Given the description of an element on the screen output the (x, y) to click on. 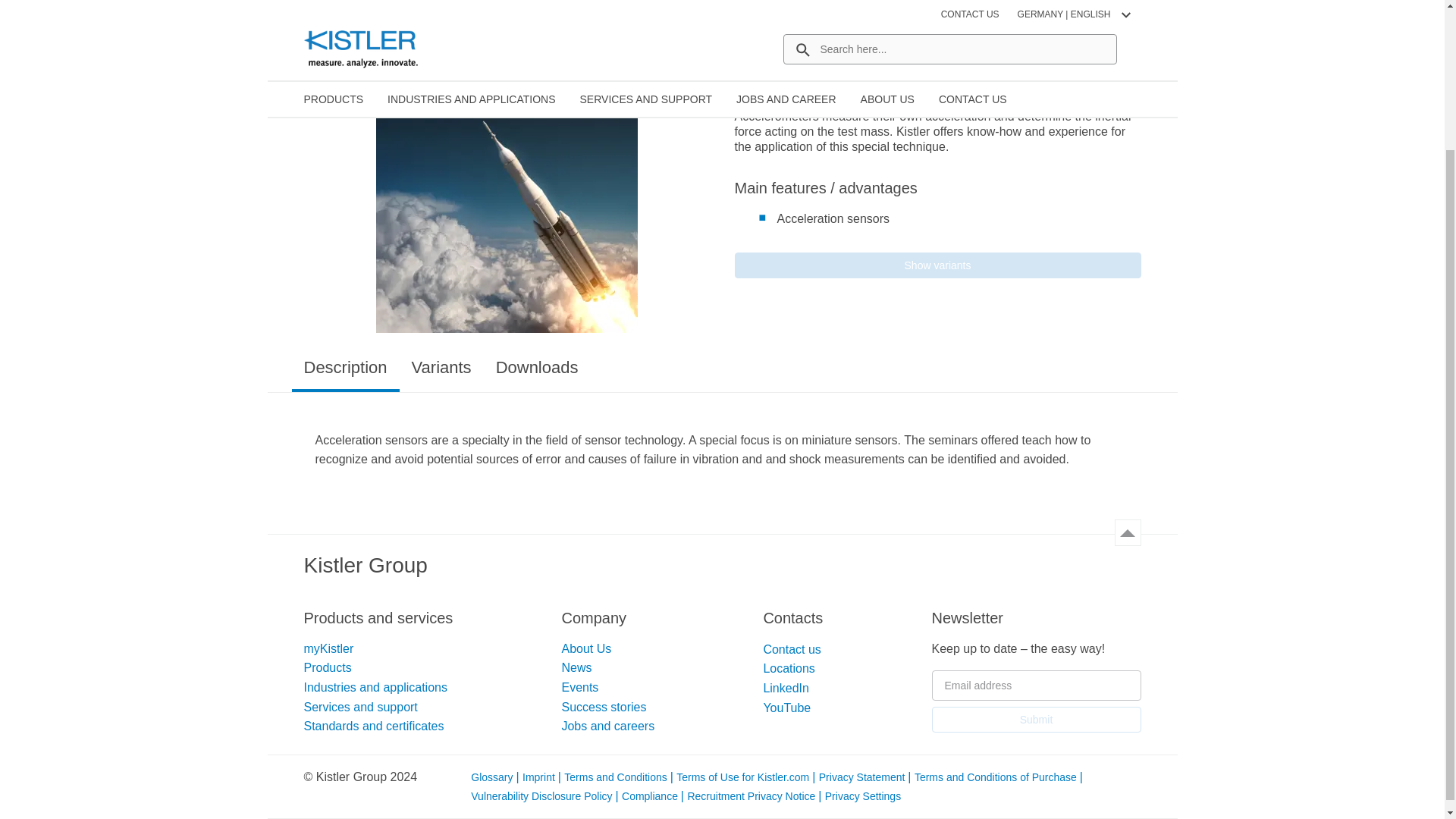
Success stories (603, 707)
About Us (585, 648)
Events (579, 686)
Locations (788, 667)
myKistler (327, 648)
Description (344, 374)
Space testing and rocket engine testing (506, 201)
Industries and applications (374, 686)
Imprint (539, 776)
Products (326, 667)
